Given the description of an element on the screen output the (x, y) to click on. 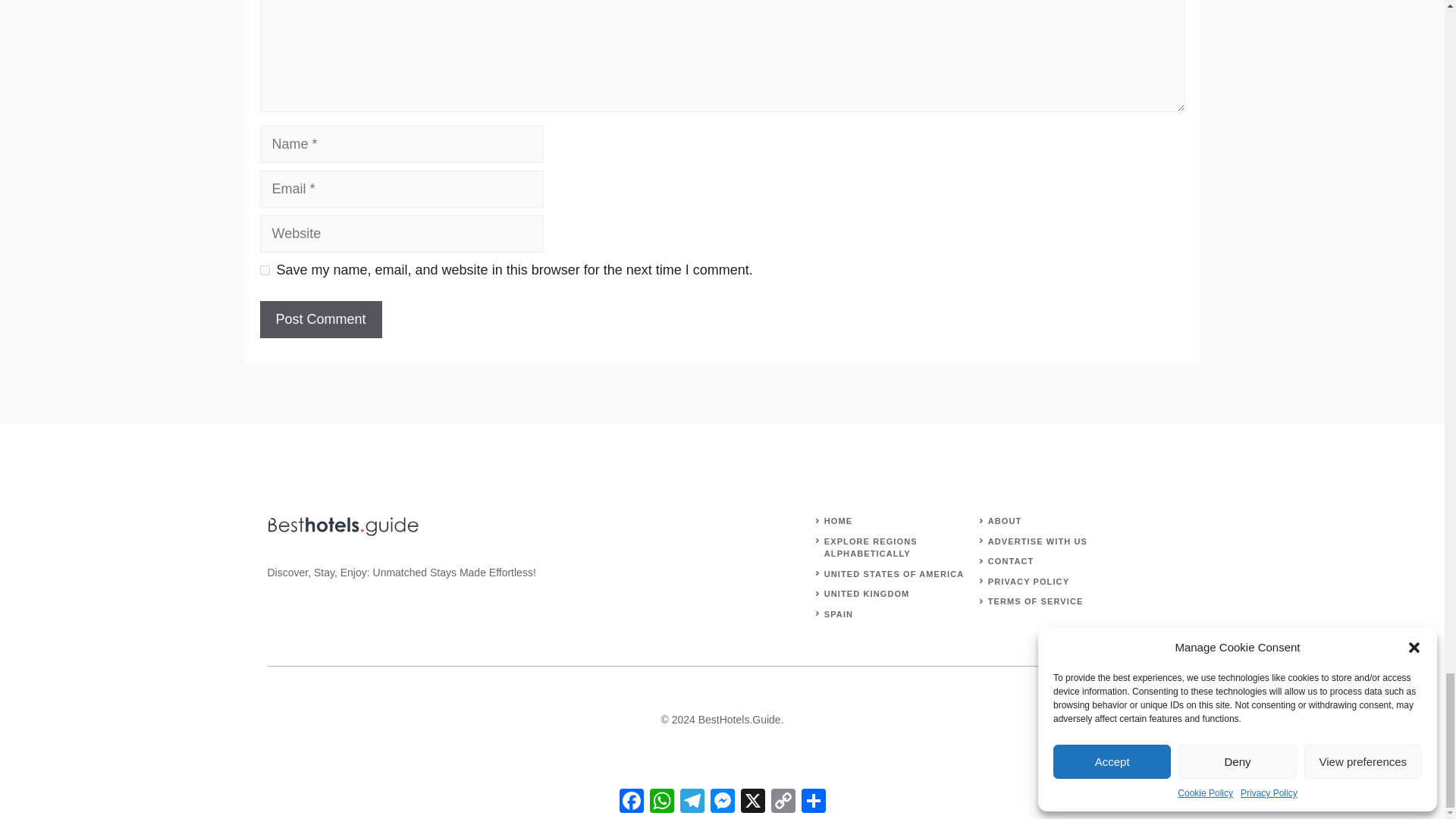
Post Comment (320, 319)
BestHotels.guide logo (342, 526)
yes (264, 270)
